Given the description of an element on the screen output the (x, y) to click on. 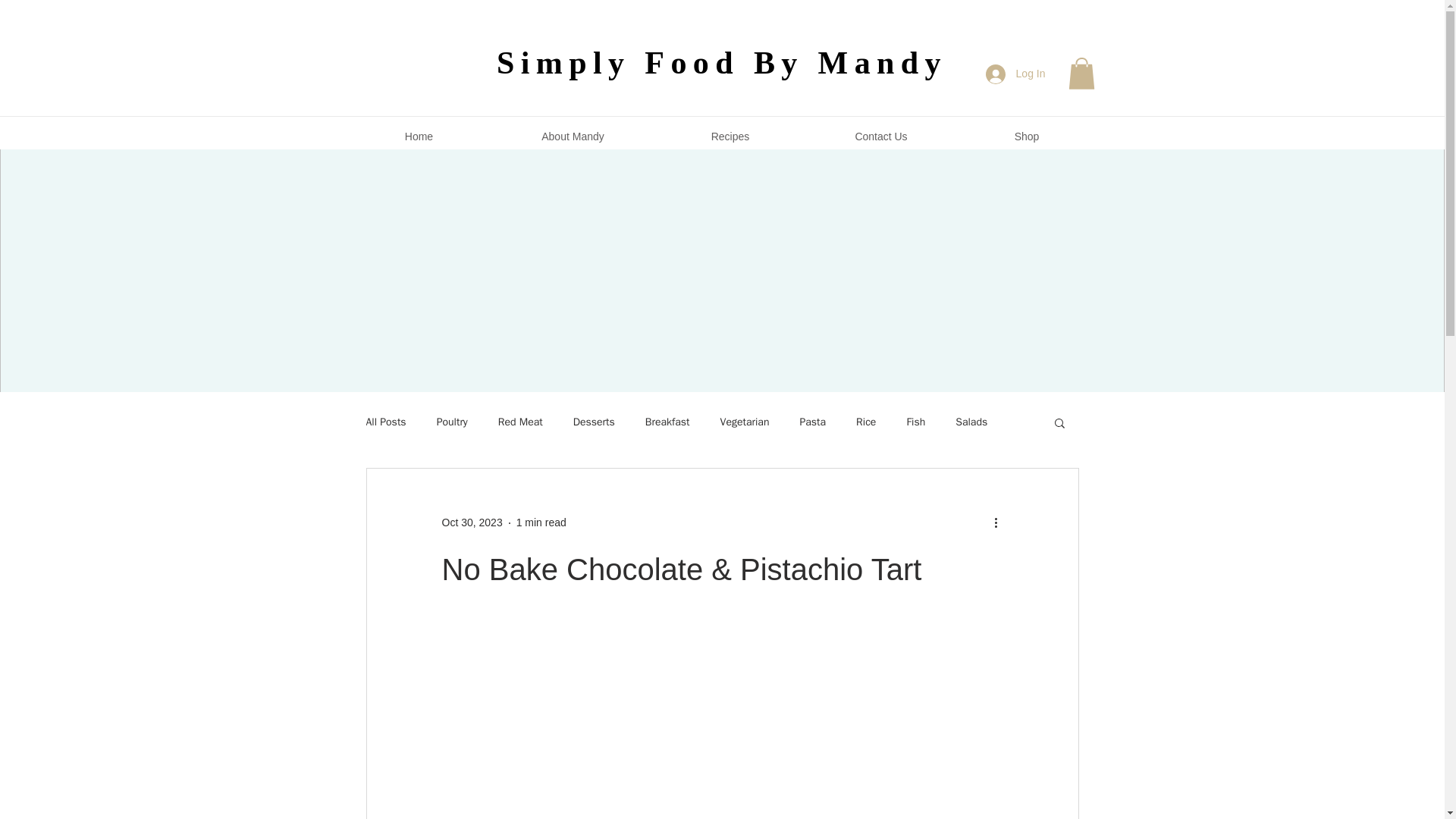
Rice (866, 422)
Desserts (593, 422)
Oct 30, 2023 (471, 522)
Shop (1026, 135)
Pasta (812, 422)
About Mandy (572, 135)
Poultry (451, 422)
Log In (1016, 72)
Home (418, 135)
Breakfast (667, 422)
